Given the description of an element on the screen output the (x, y) to click on. 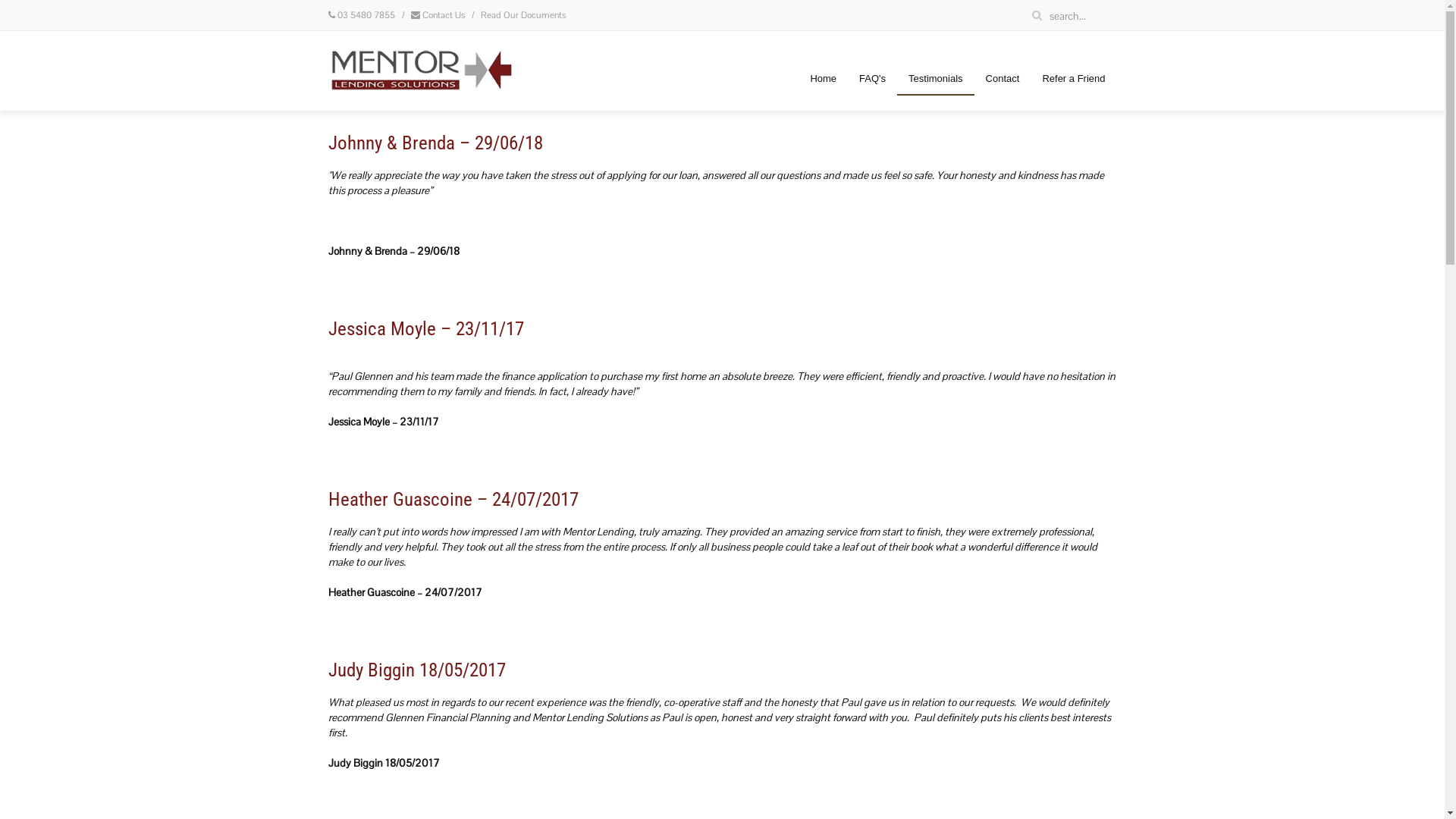
Refer a Friend Element type: text (1073, 78)
03 5480 7855 Element type: text (365, 15)
Home Element type: text (822, 78)
Contact Element type: text (1002, 78)
Testimonials Element type: text (935, 78)
Contact Us Element type: text (442, 15)
FAQ's Element type: text (872, 78)
